Given the description of an element on the screen output the (x, y) to click on. 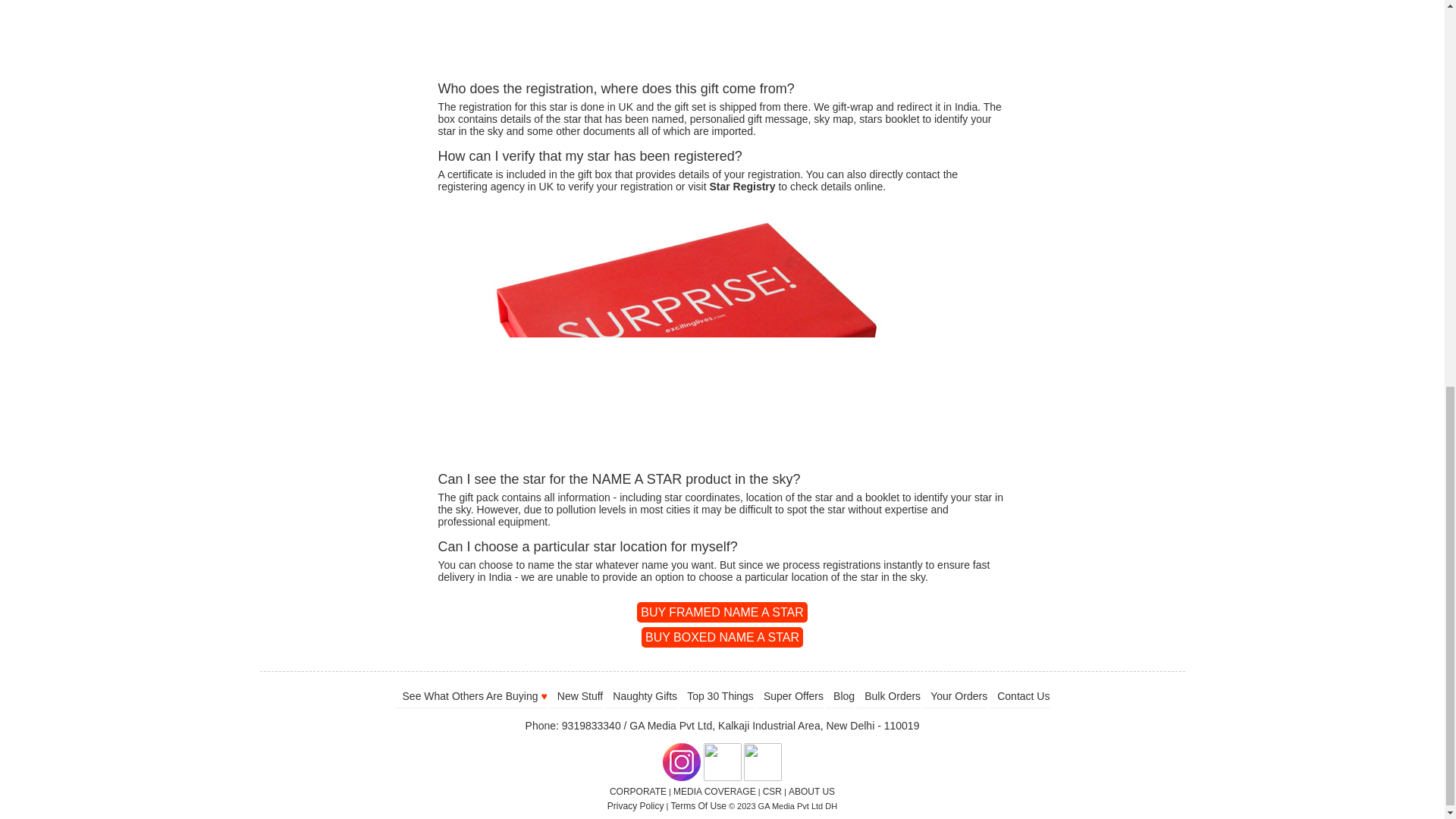
Star Registry (741, 186)
